Given the description of an element on the screen output the (x, y) to click on. 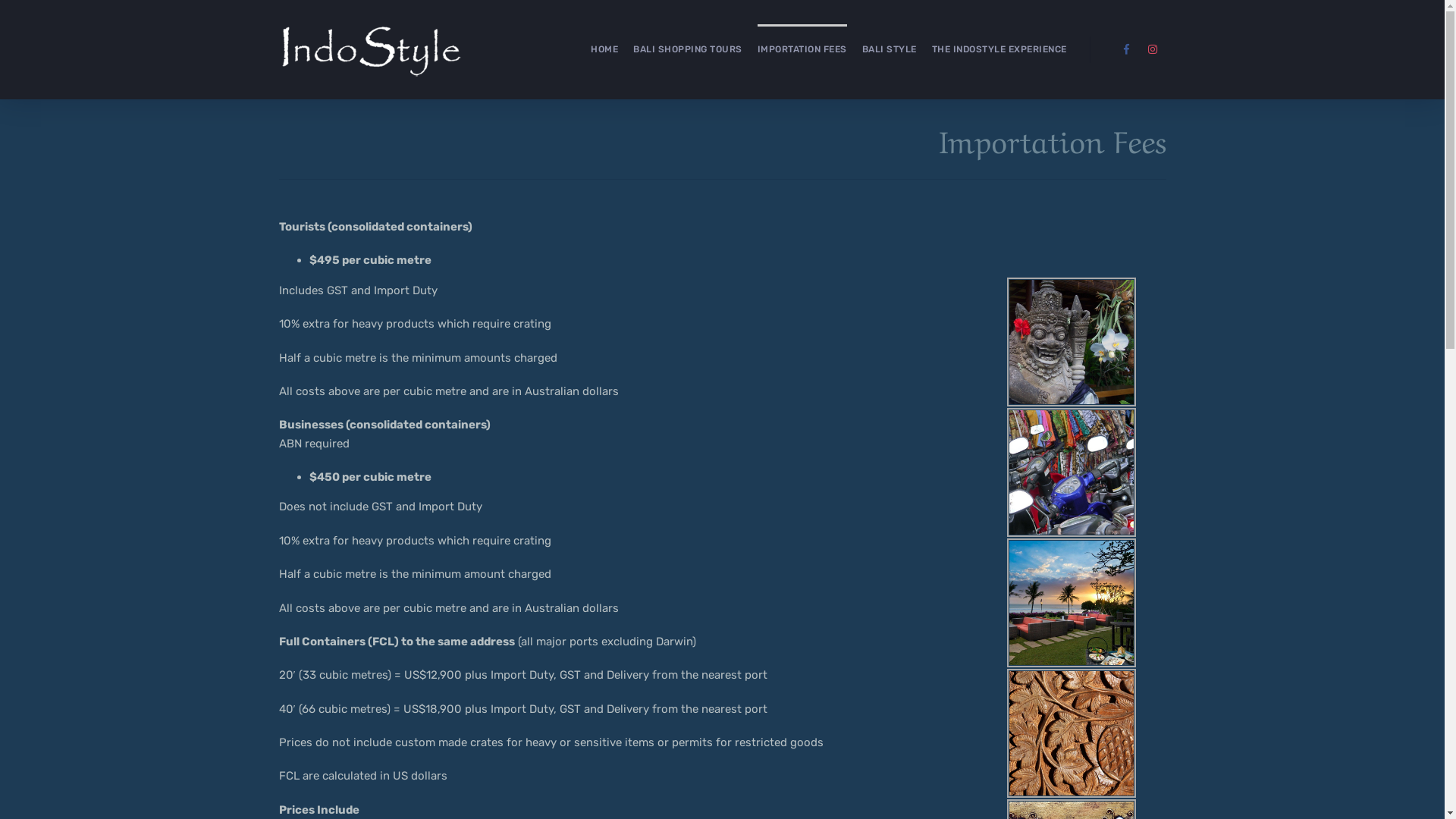
IMPORTATION FEES Element type: text (801, 49)
IndoStyle Bali to Australia Freight Services Element type: hover (1071, 732)
IndoStyle Bali to Australia Freight Services Element type: hover (1071, 602)
IndoStyle Bali to Australia Freight Services Element type: hover (1071, 471)
BALI SHOPPING TOURS Element type: text (687, 49)
HOME Element type: text (604, 49)
IndoStyle Bali to Australia Freight Services Element type: hover (1071, 341)
THE INDOSTYLE EXPERIENCE Element type: text (998, 49)
BALI STYLE Element type: text (888, 49)
Search Element type: text (1373, 79)
